Given the description of an element on the screen output the (x, y) to click on. 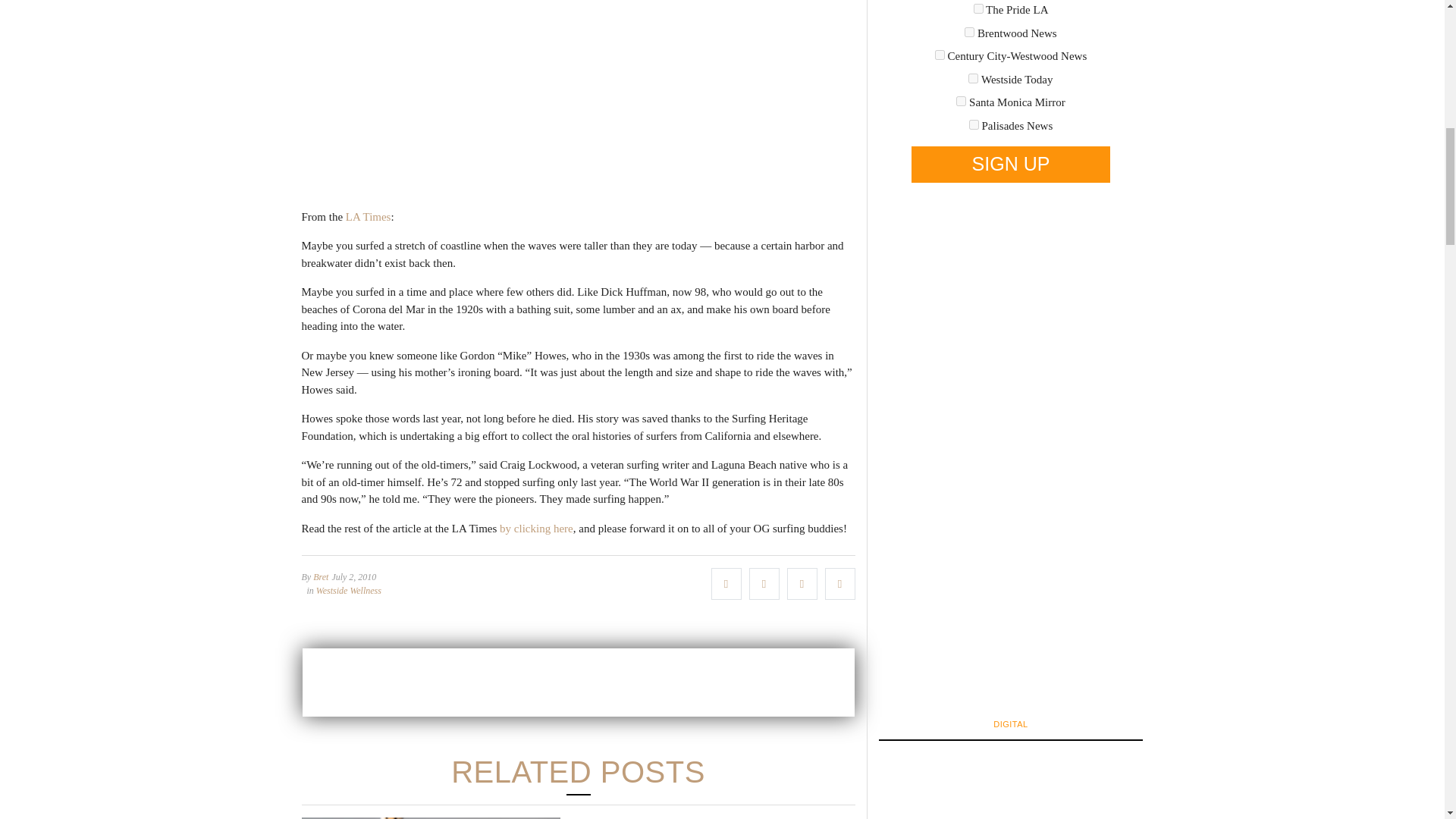
3rd party ad content (577, 682)
by clicking here (536, 528)
Old School Surfers by www.YoVenice.com, on Flickr (578, 95)
Bret (321, 576)
382281a661 (968, 31)
LA Times (366, 216)
a3d1b6d535 (973, 78)
Westside Wellness (348, 590)
ec7d882848 (973, 124)
d0b5733862 (961, 101)
33f79e7e4d (979, 8)
Posts by Bret (321, 576)
Sign up (1010, 164)
5fac618226 (939, 54)
